Given the description of an element on the screen output the (x, y) to click on. 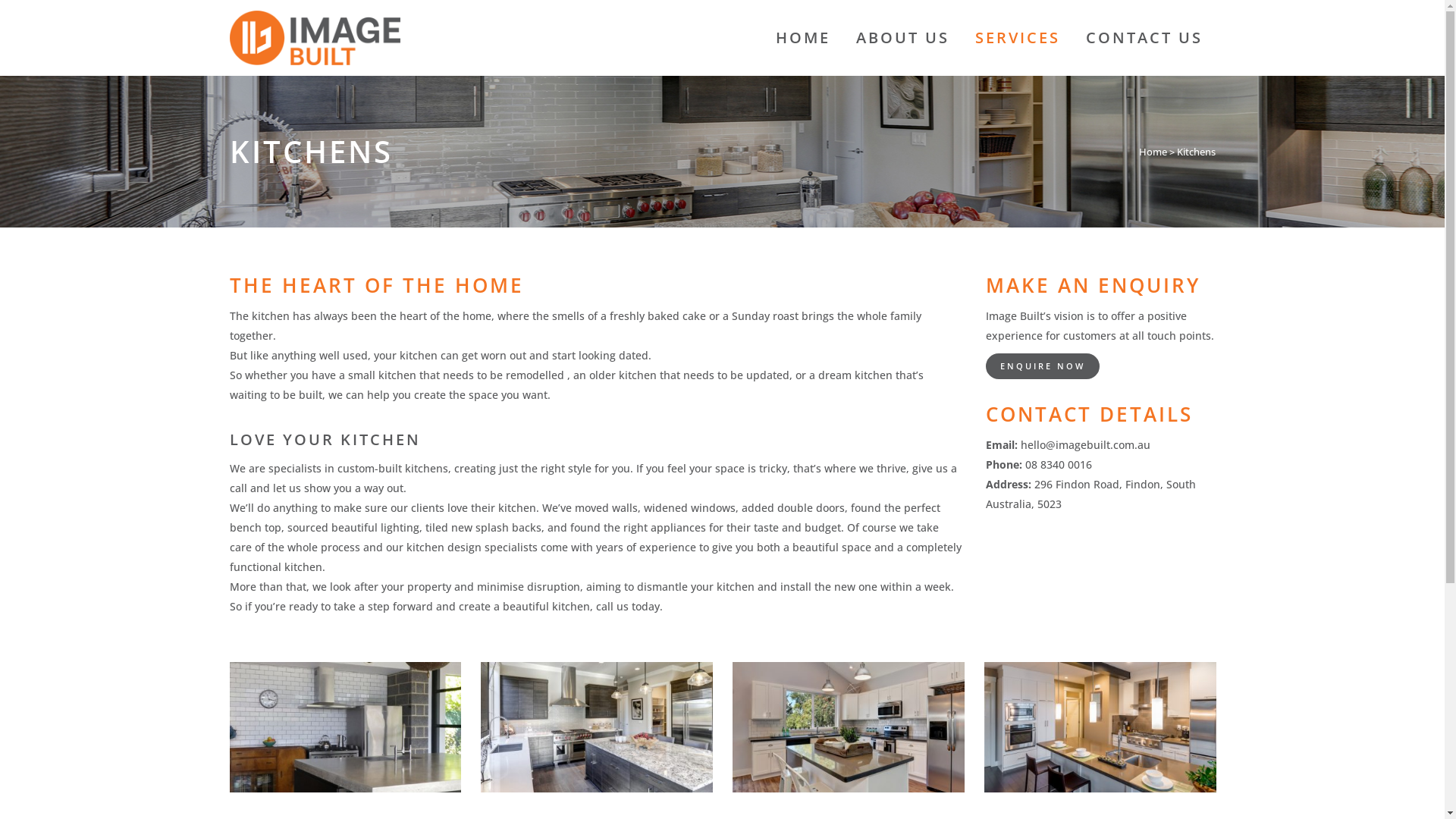
ABOUT US Element type: text (902, 37)
CONTACT US Element type: text (1143, 37)
HOME Element type: text (802, 37)
hello@imagebuilt.com.au Element type: text (1085, 444)
SERVICES Element type: text (1016, 37)
5 Element type: hover (848, 727)
6 Element type: hover (1100, 727)
Home Element type: text (1153, 150)
11 Element type: hover (345, 727)
2 Element type: hover (596, 727)
ENQUIRE NOW Element type: text (1042, 366)
